Given the description of an element on the screen output the (x, y) to click on. 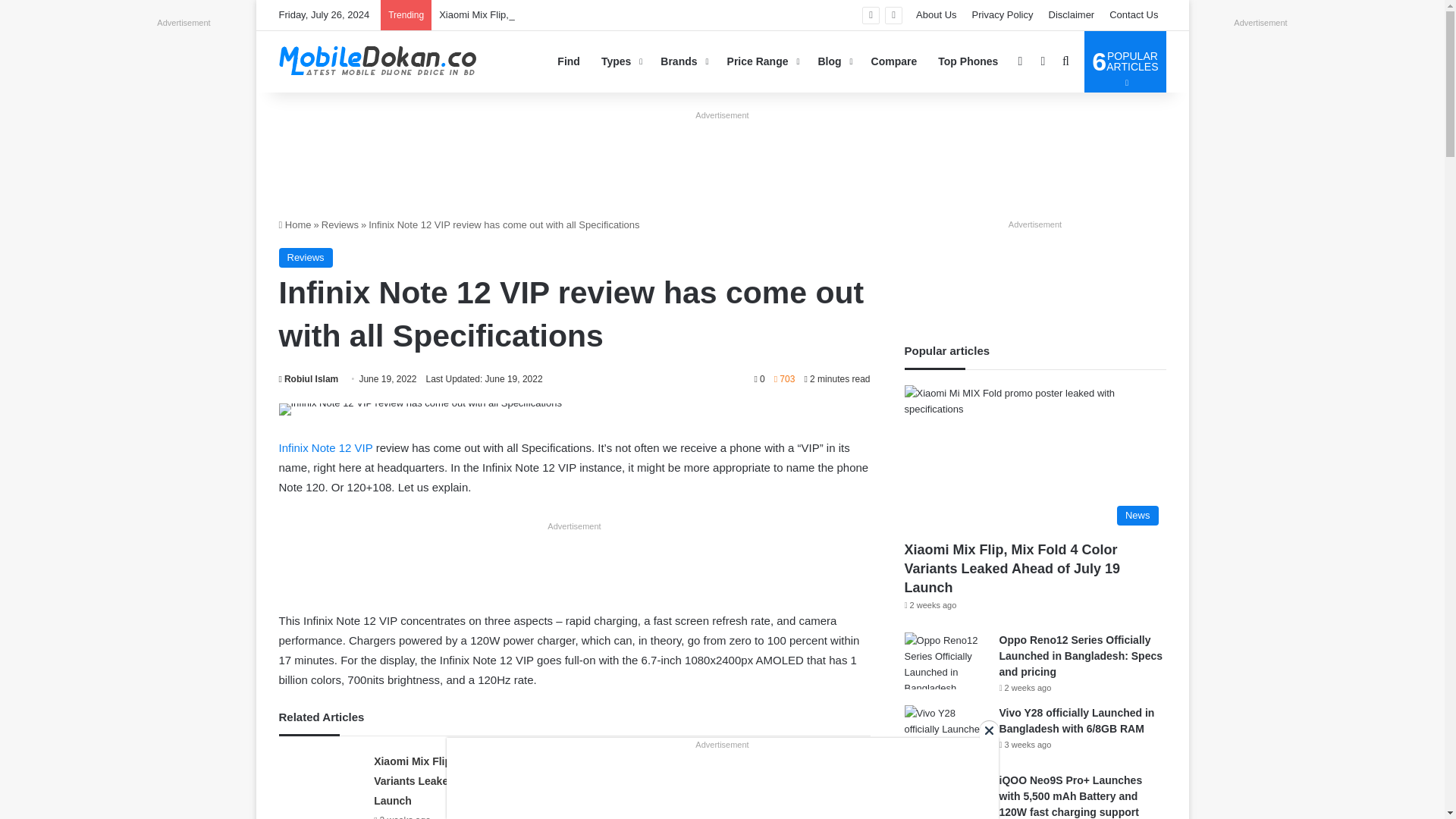
Contact Us (1134, 15)
About Us (935, 15)
Price Range (762, 61)
Disclaimer (1071, 15)
About Us (935, 15)
Find, filter and search (569, 61)
Privacy Policy (1002, 15)
Disclaimer (1071, 15)
Privacy Policy (1002, 15)
Contact Us (1134, 15)
MobileDokan (377, 60)
Find (569, 61)
Types (620, 61)
Types (620, 61)
Brands (682, 61)
